Given the description of an element on the screen output the (x, y) to click on. 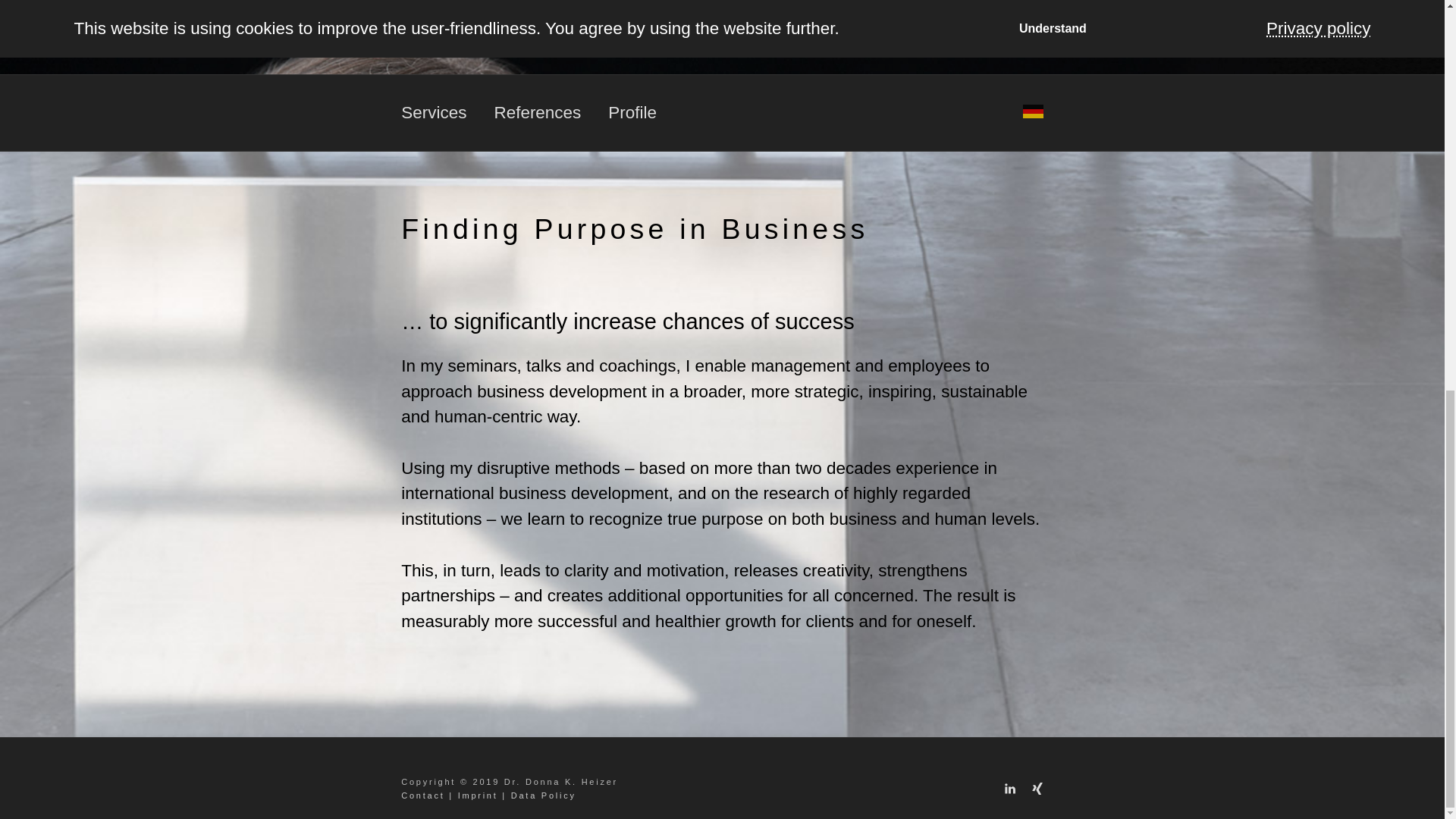
Services (447, 113)
linkedIn (1009, 788)
XING (1033, 788)
Profile (646, 113)
References (550, 113)
